Given the description of an element on the screen output the (x, y) to click on. 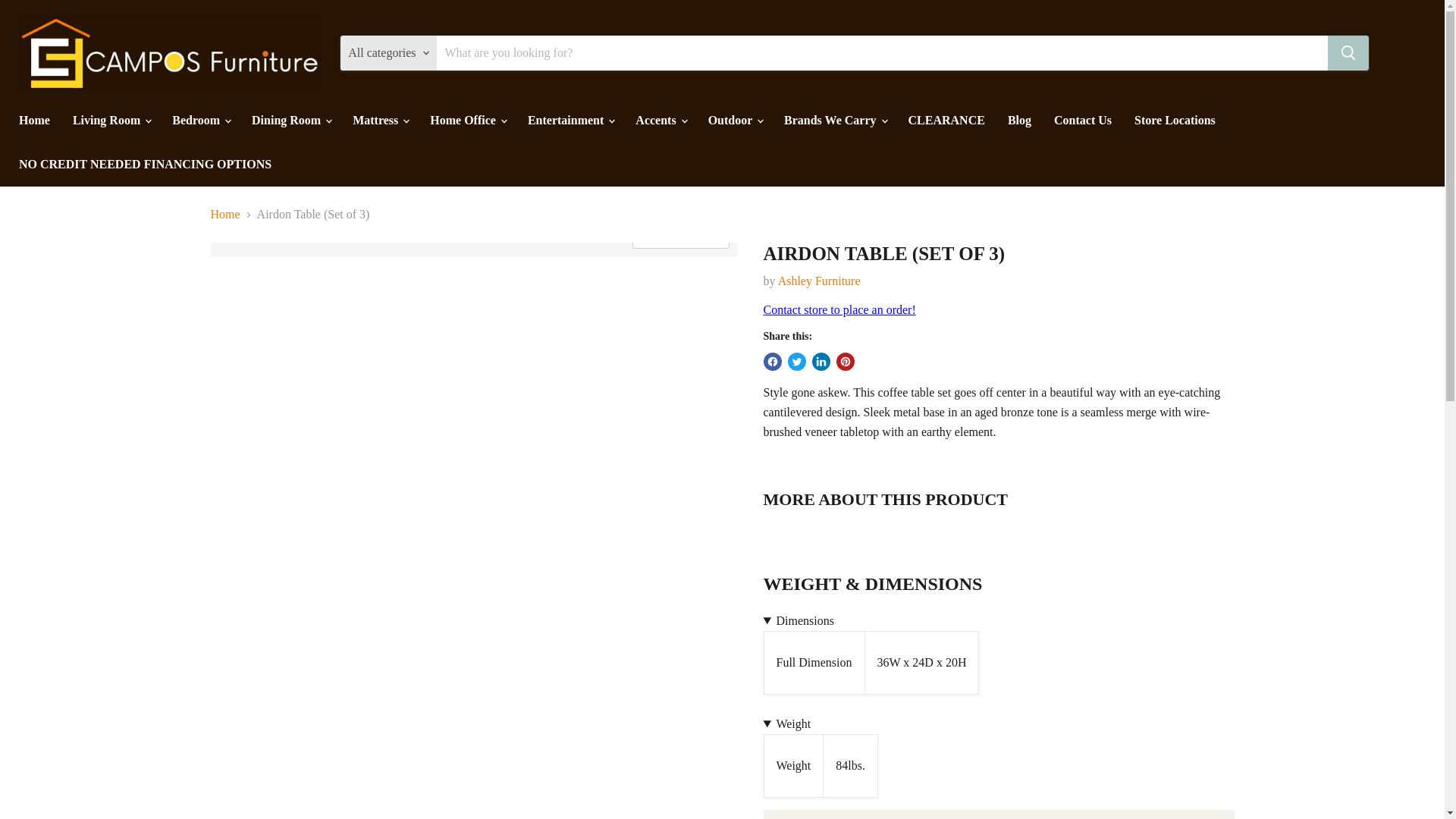
Contact Us - Campos Furniture (838, 309)
Home (34, 120)
Ashley Furniture (818, 280)
